Given the description of an element on the screen output the (x, y) to click on. 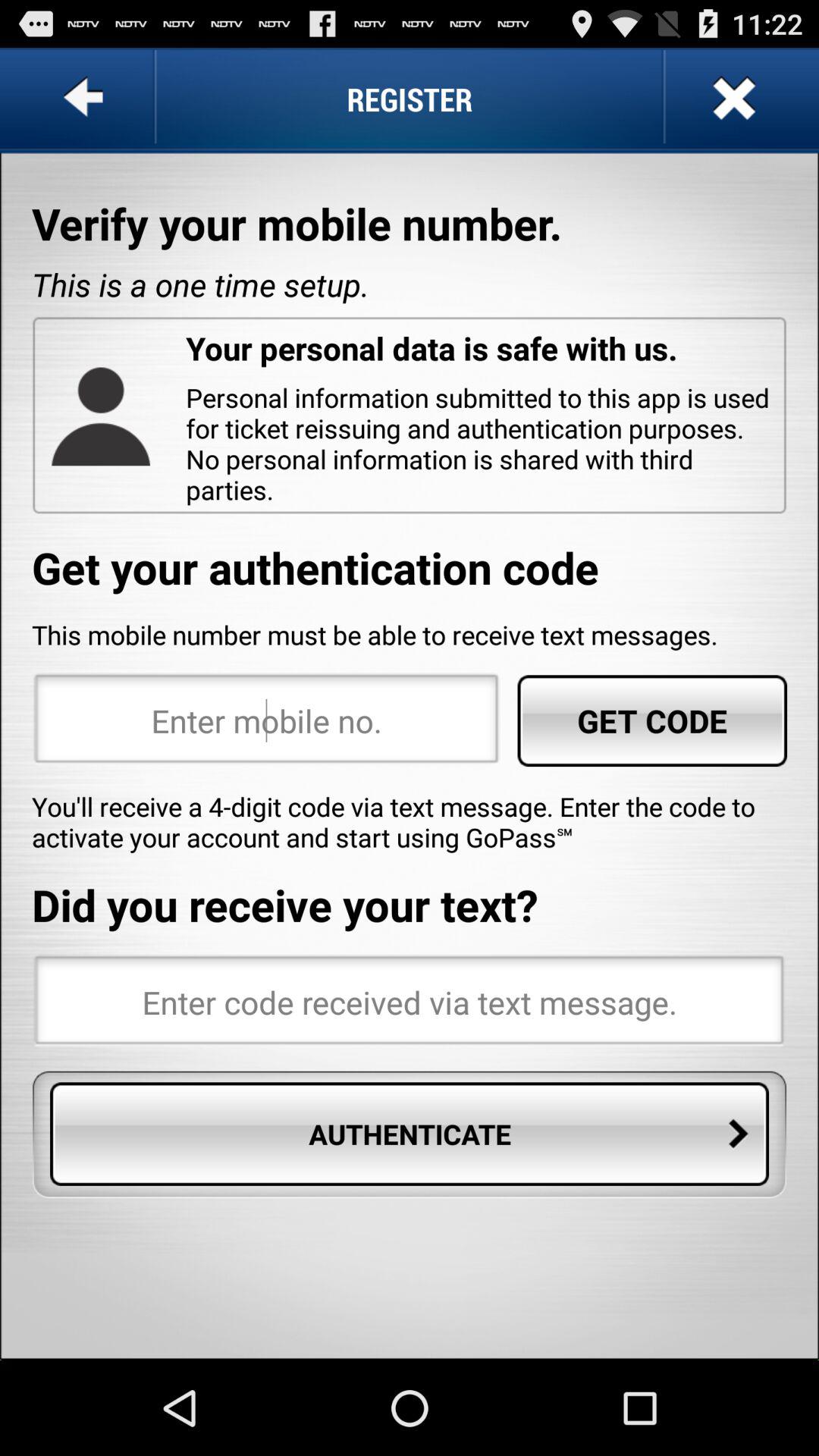
enter mobile number (266, 720)
